Given the description of an element on the screen output the (x, y) to click on. 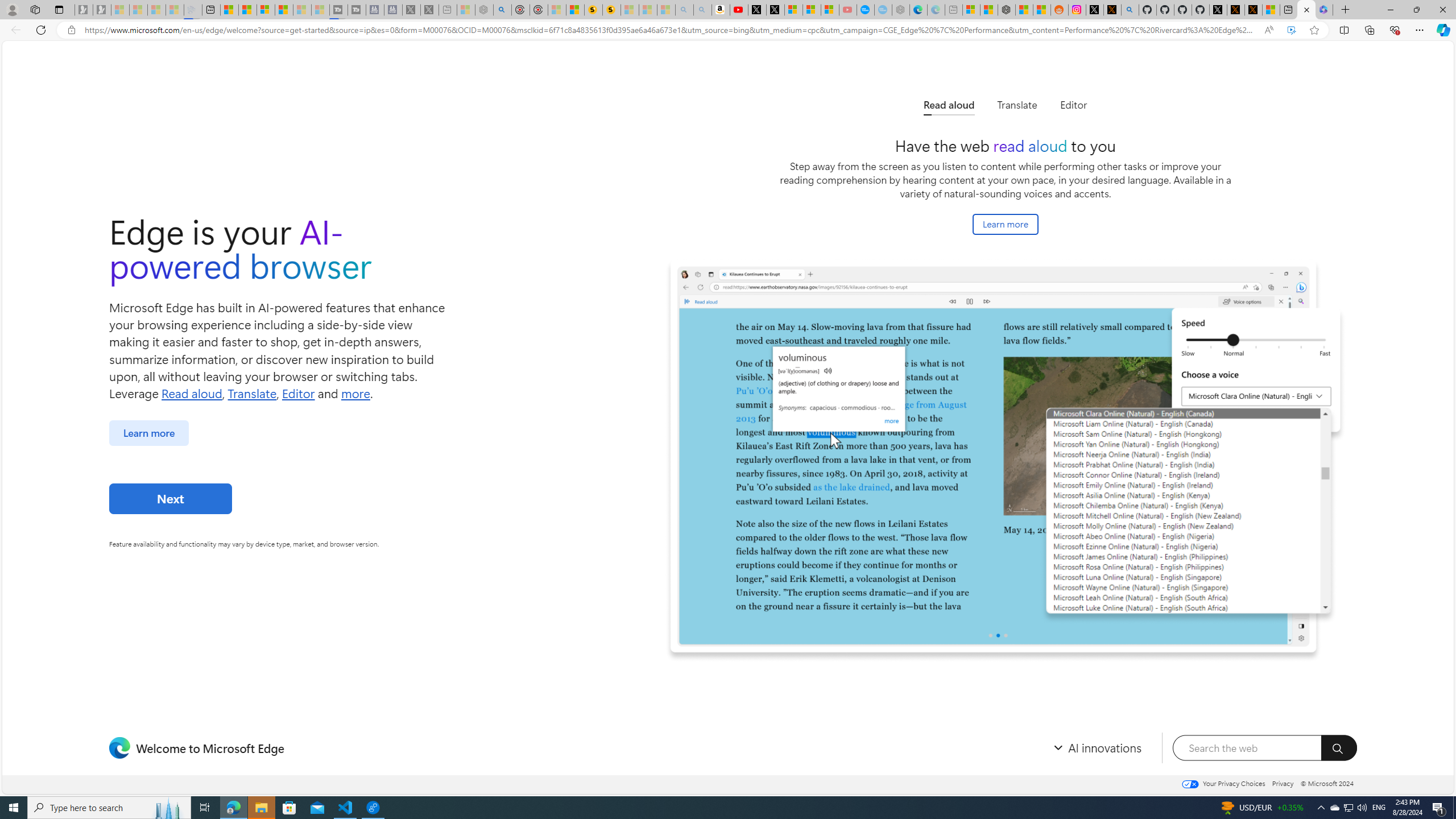
Overview (265, 9)
poe - Search (502, 9)
The most popular Google 'how to' searches - Sleeping (882, 9)
X - Sleeping (430, 9)
Nordace - Duffels (1006, 9)
Michelle Starr, Senior Journalist at ScienceAlert (612, 9)
Welcome to Microsoft Edge (1306, 9)
